Given the description of an element on the screen output the (x, y) to click on. 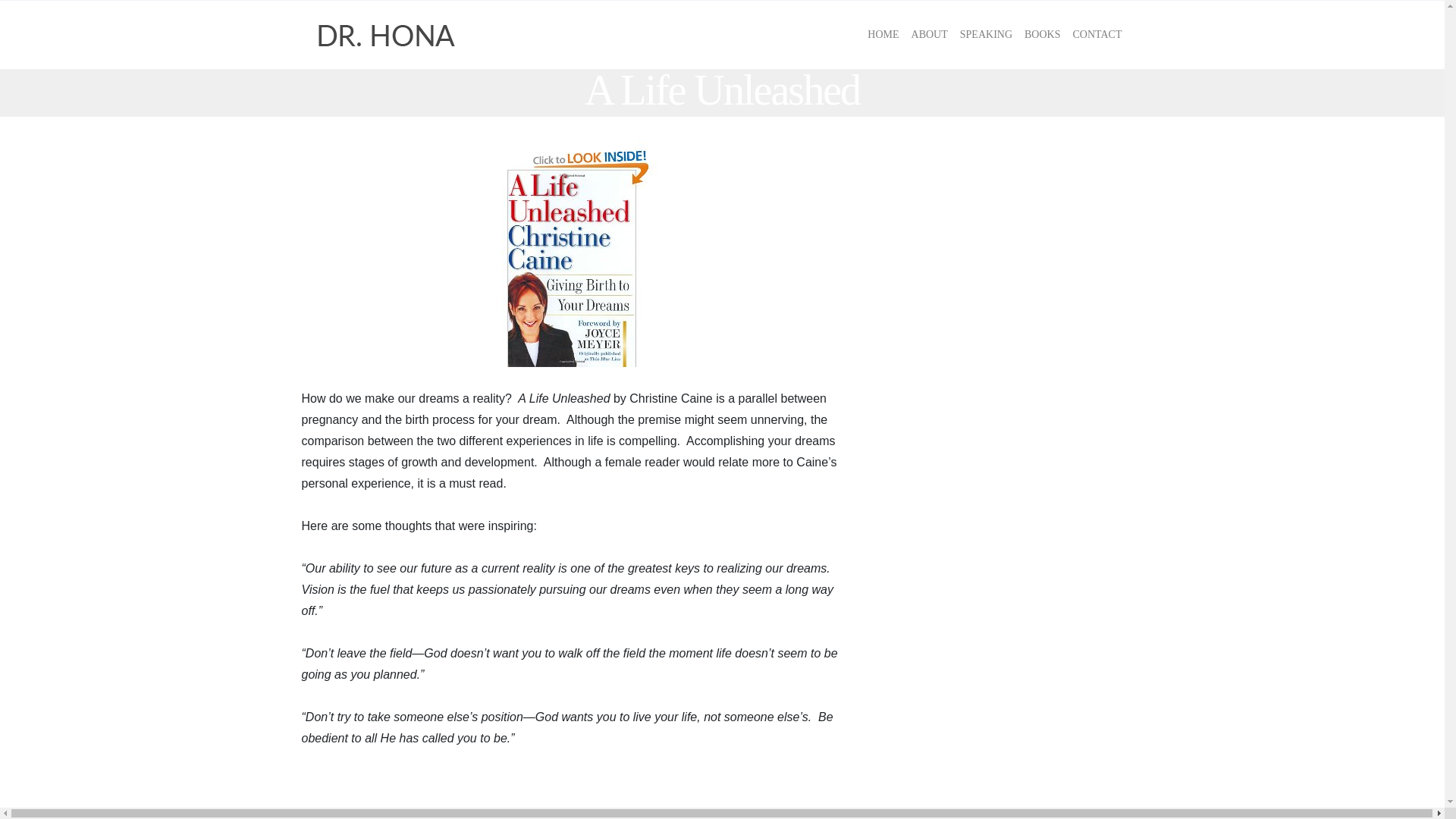
SPEAKING (985, 34)
Speaking (985, 34)
CONTACT (1095, 34)
Contact (1095, 34)
Dr. Hona Amer (386, 34)
